Given the description of an element on the screen output the (x, y) to click on. 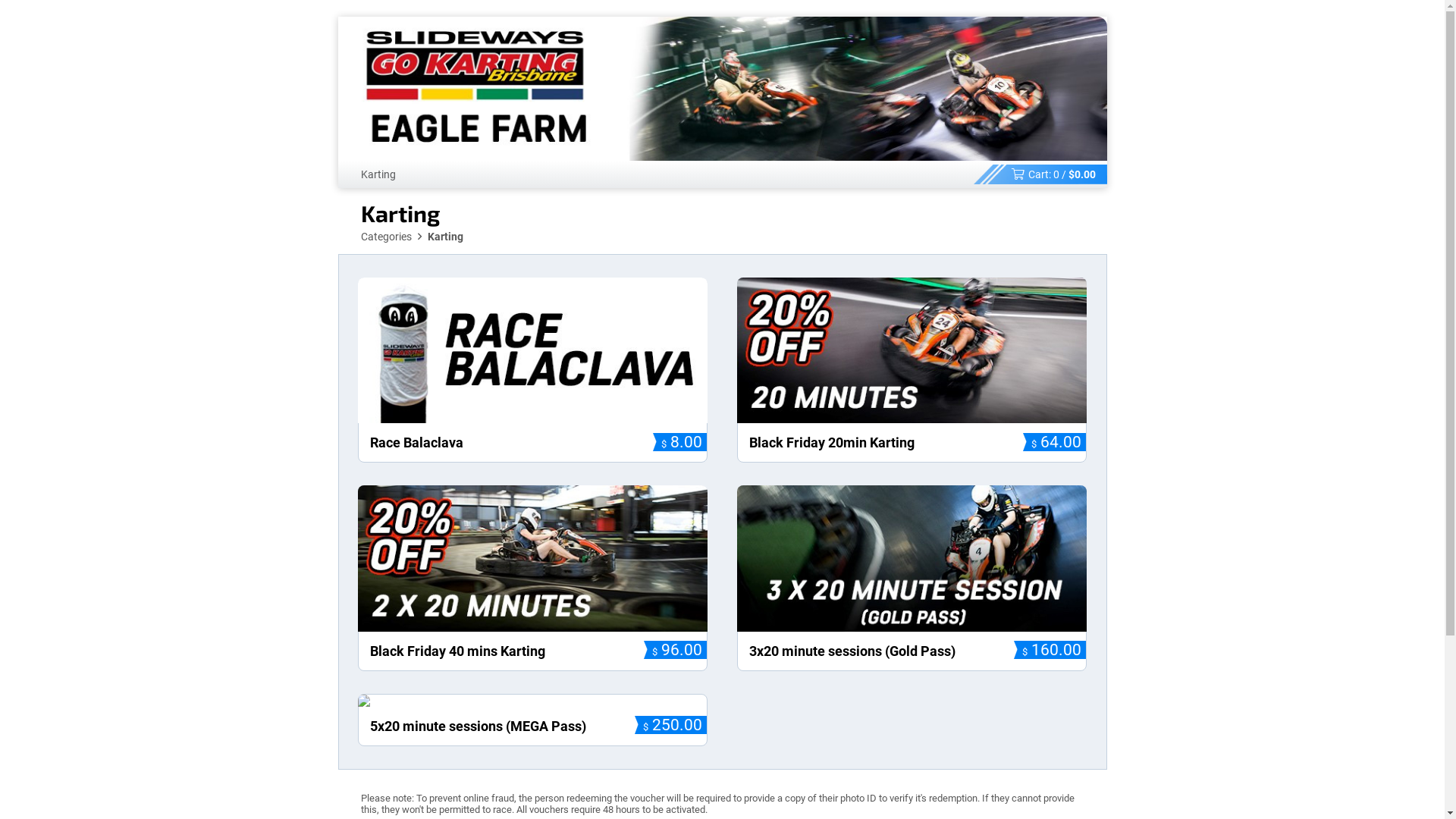
Black Friday 40 mins Karting
$ 96.00 Element type: text (532, 577)
Race Balaclava
$ 8.00 Element type: text (532, 369)
Categories Element type: text (385, 236)
3x20 minute sessions (Gold Pass)
$ 160.00 Element type: text (912, 577)
Cart:
0 / $0.00 Element type: text (1040, 174)
Karting Element type: text (378, 174)
Black Friday 20min Karting
$ 64.00 Element type: text (912, 369)
5x20 minute sessions (MEGA Pass)
$ 250.00 Element type: text (532, 719)
